Given the description of an element on the screen output the (x, y) to click on. 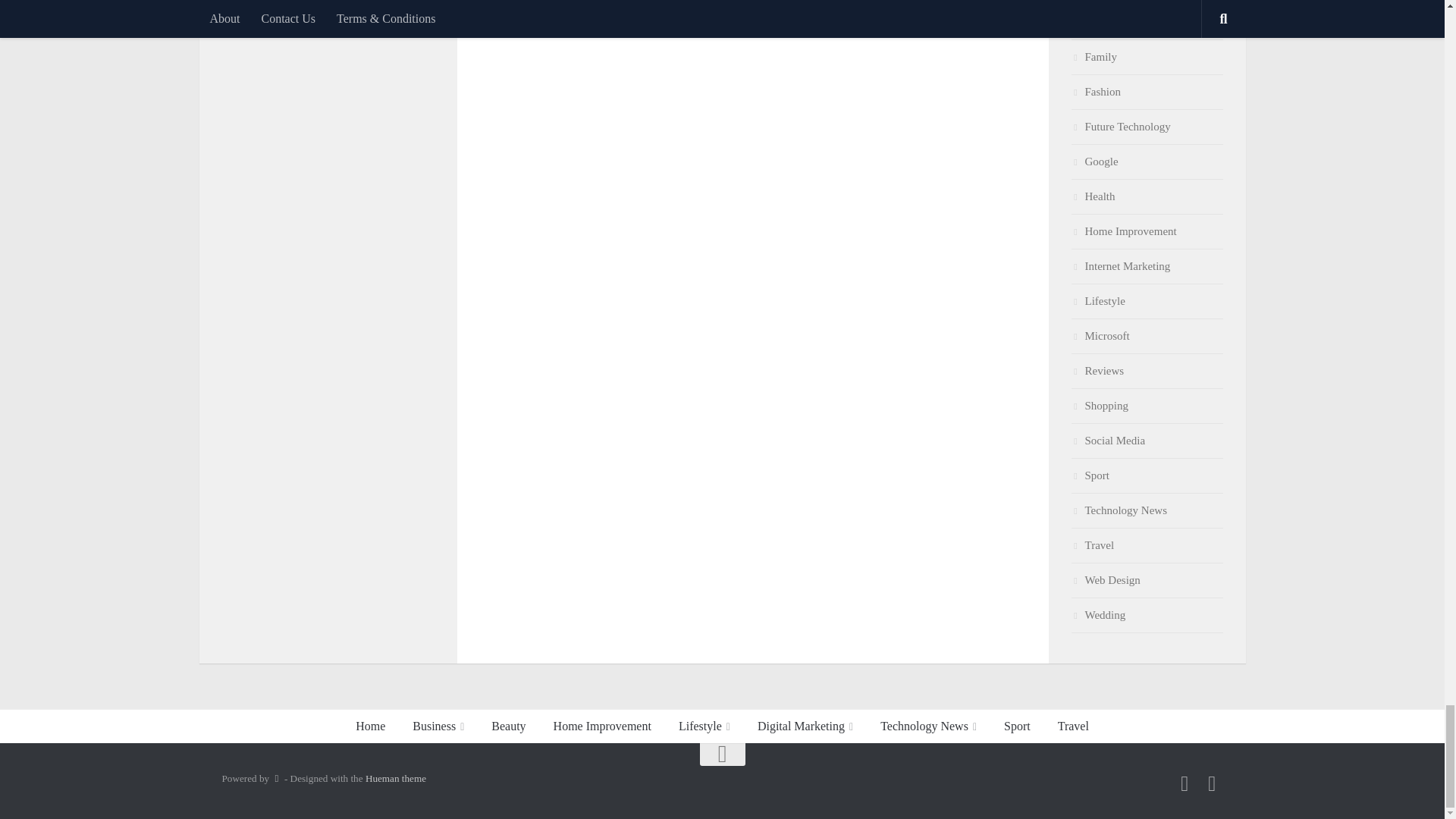
Hueman theme (395, 778)
Powered by WordPress (275, 777)
